Given the description of an element on the screen output the (x, y) to click on. 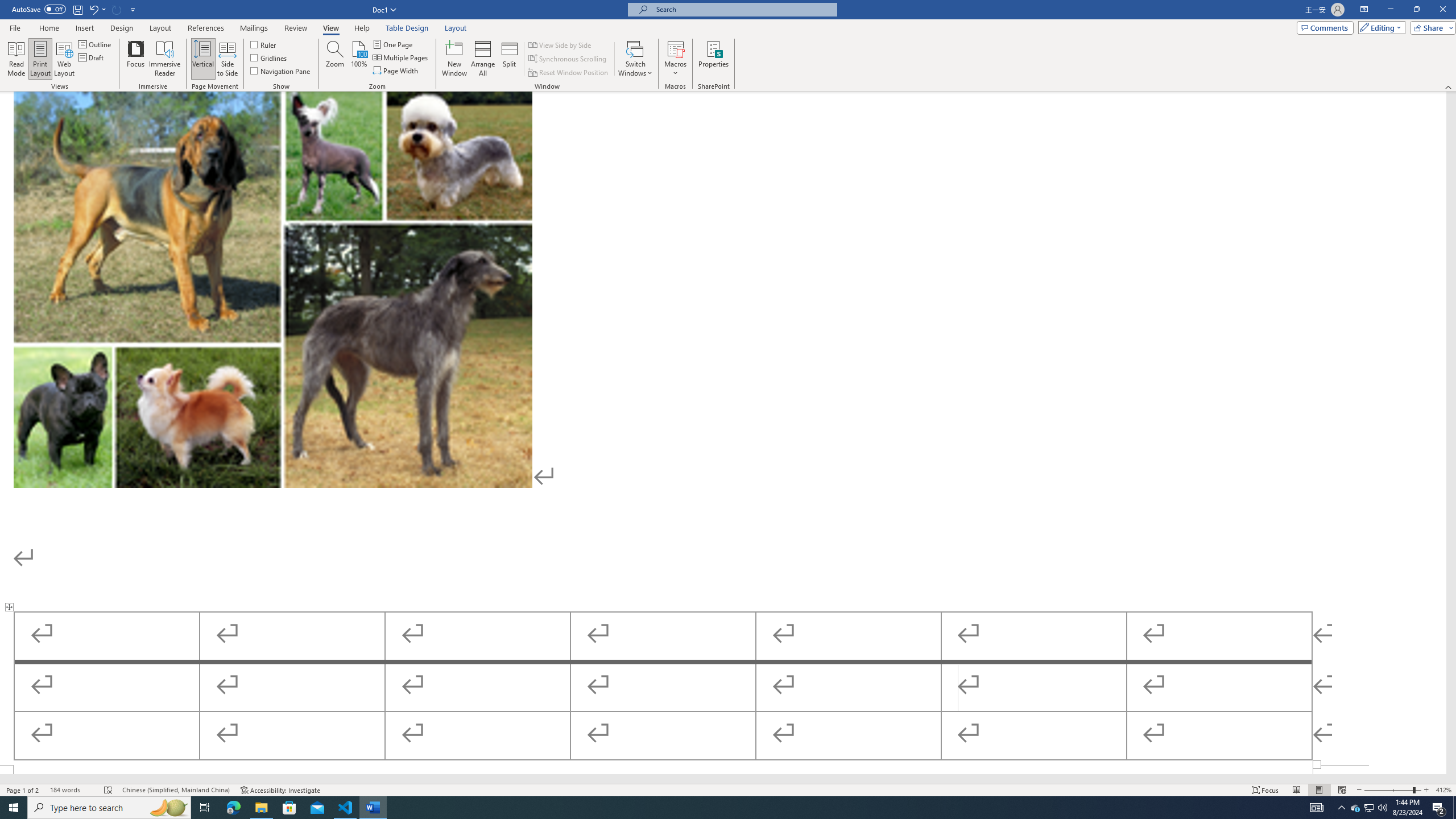
Zoom 412% (1443, 790)
Ruler (263, 44)
View Macros (675, 48)
Split (509, 58)
